Given the description of an element on the screen output the (x, y) to click on. 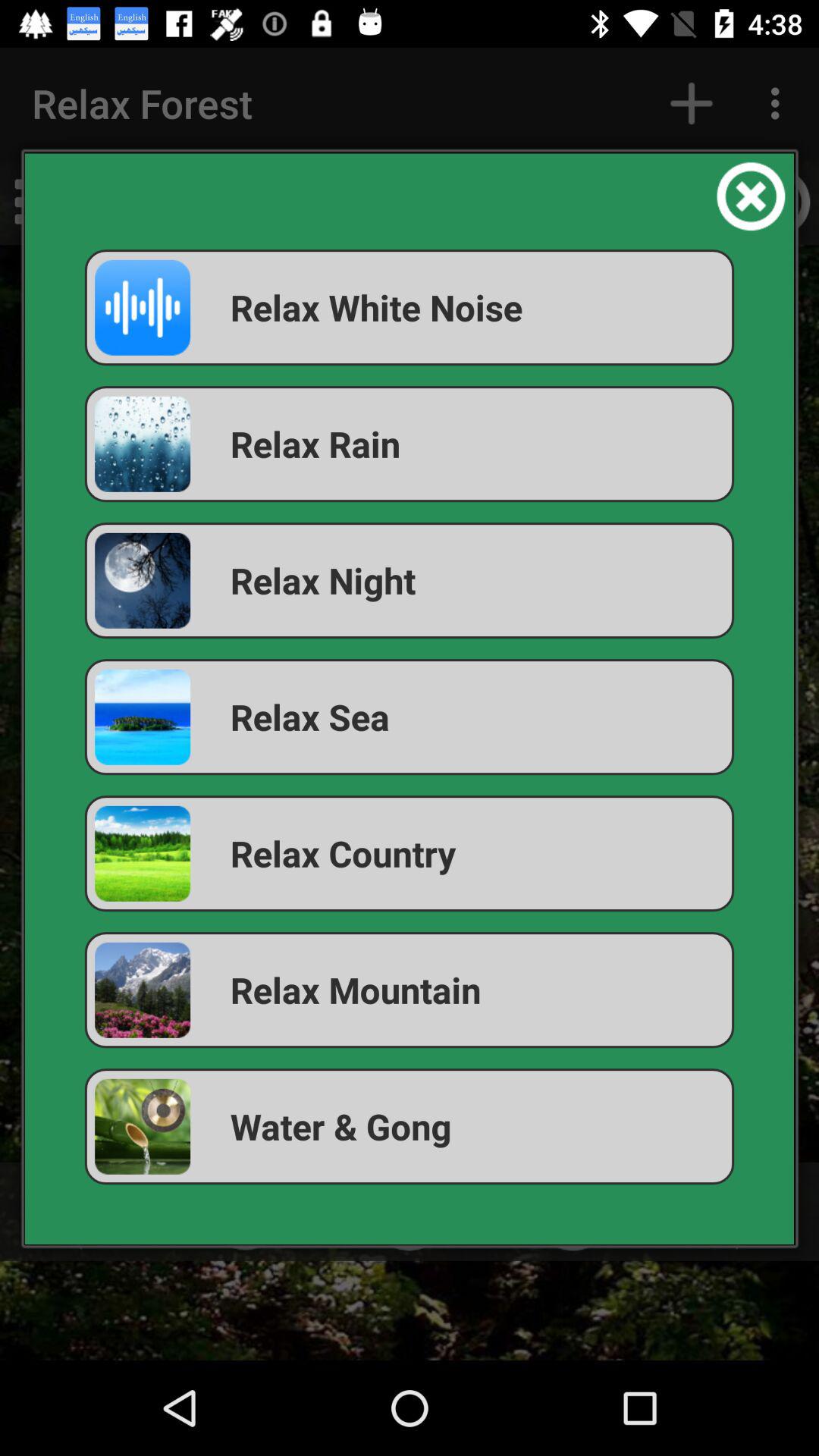
choose item below the relax night icon (409, 717)
